Given the description of an element on the screen output the (x, y) to click on. 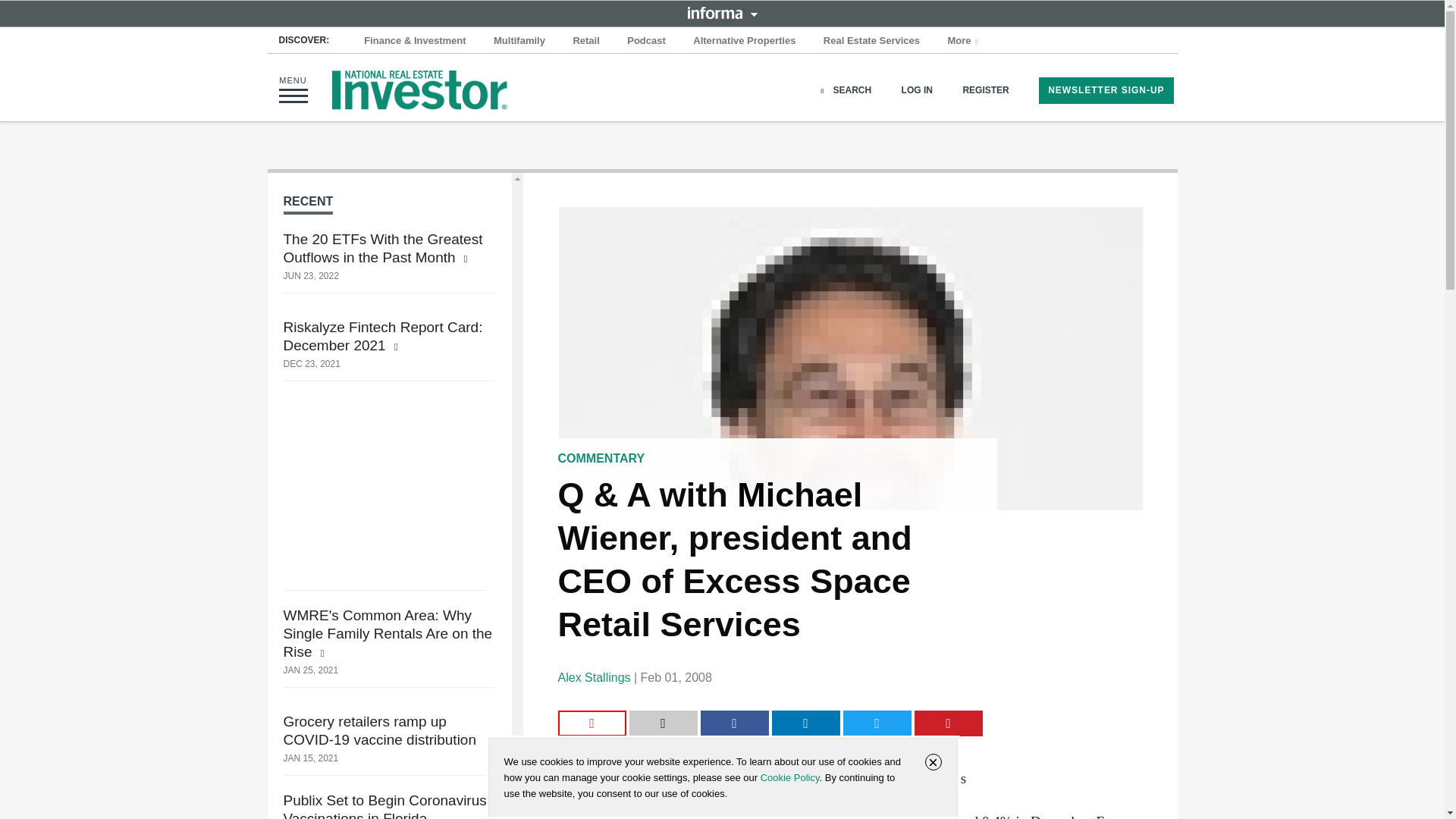
Real Estate Services (871, 41)
Retail (585, 41)
More (964, 41)
INFORMA (722, 12)
Cookie Policy (789, 777)
Podcast (646, 41)
Multifamily (519, 41)
Alternative Properties (744, 41)
